Given the description of an element on the screen output the (x, y) to click on. 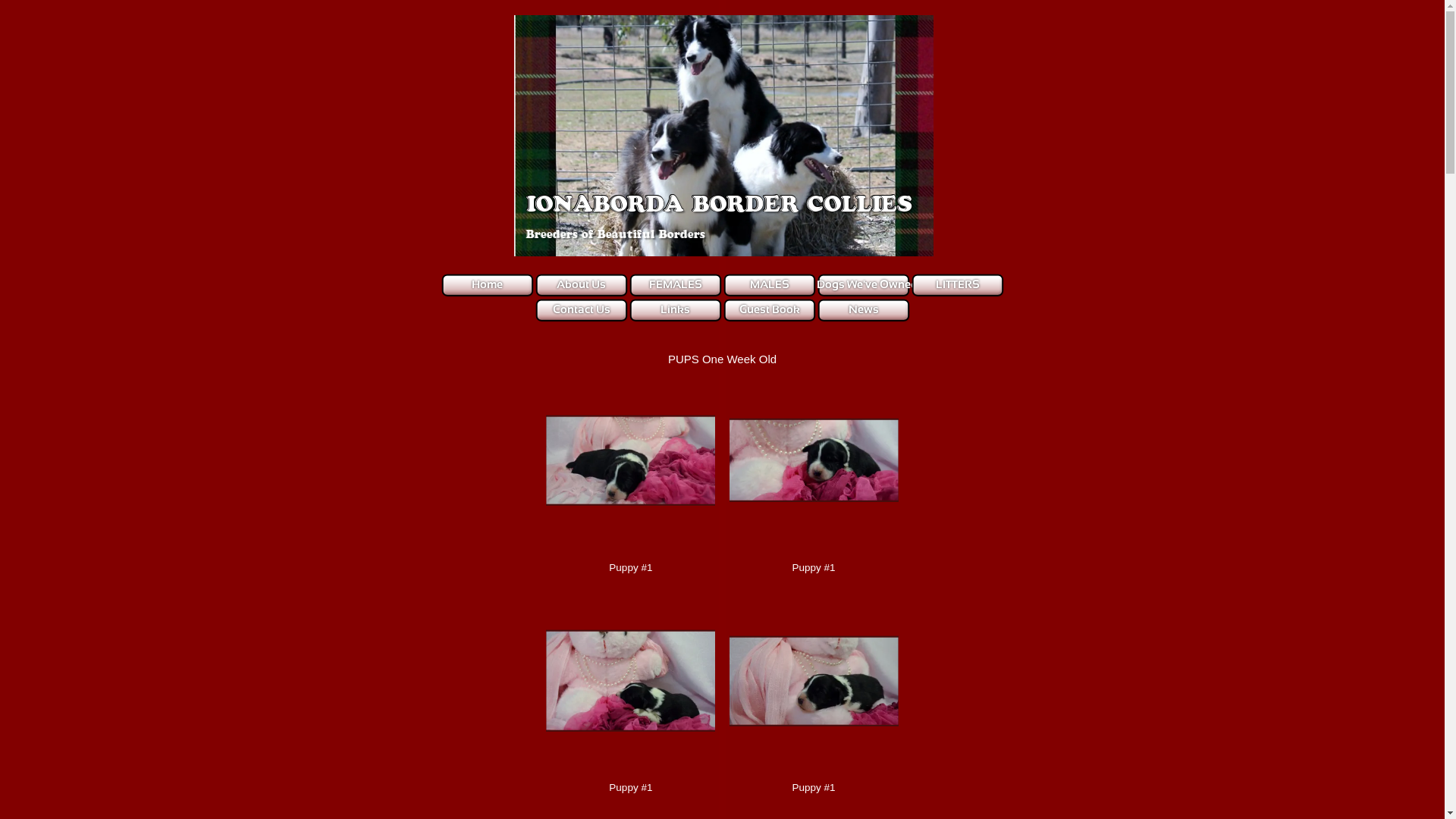
Home Element type: text (486, 285)
Breeders of Beautiful Borders Element type: text (613, 235)
Contact Us Element type: text (580, 310)
Puppy #1
 Element type: hover (630, 460)
Puppy #1
 Element type: hover (630, 680)
FEMALES Element type: text (675, 285)
Dogs We've Owned Element type: text (865, 285)
About Us Element type: text (580, 285)
Guest Book Element type: text (768, 310)
Links Element type: text (675, 310)
LITTERS Element type: text (957, 285)
Puppy #1
 Element type: hover (813, 460)
MALES Element type: text (768, 285)
IONABORDA BORDER COLLIES Element type: text (717, 204)
News Element type: text (862, 310)
Puppy #1
 Element type: hover (813, 680)
